Given the description of an element on the screen output the (x, y) to click on. 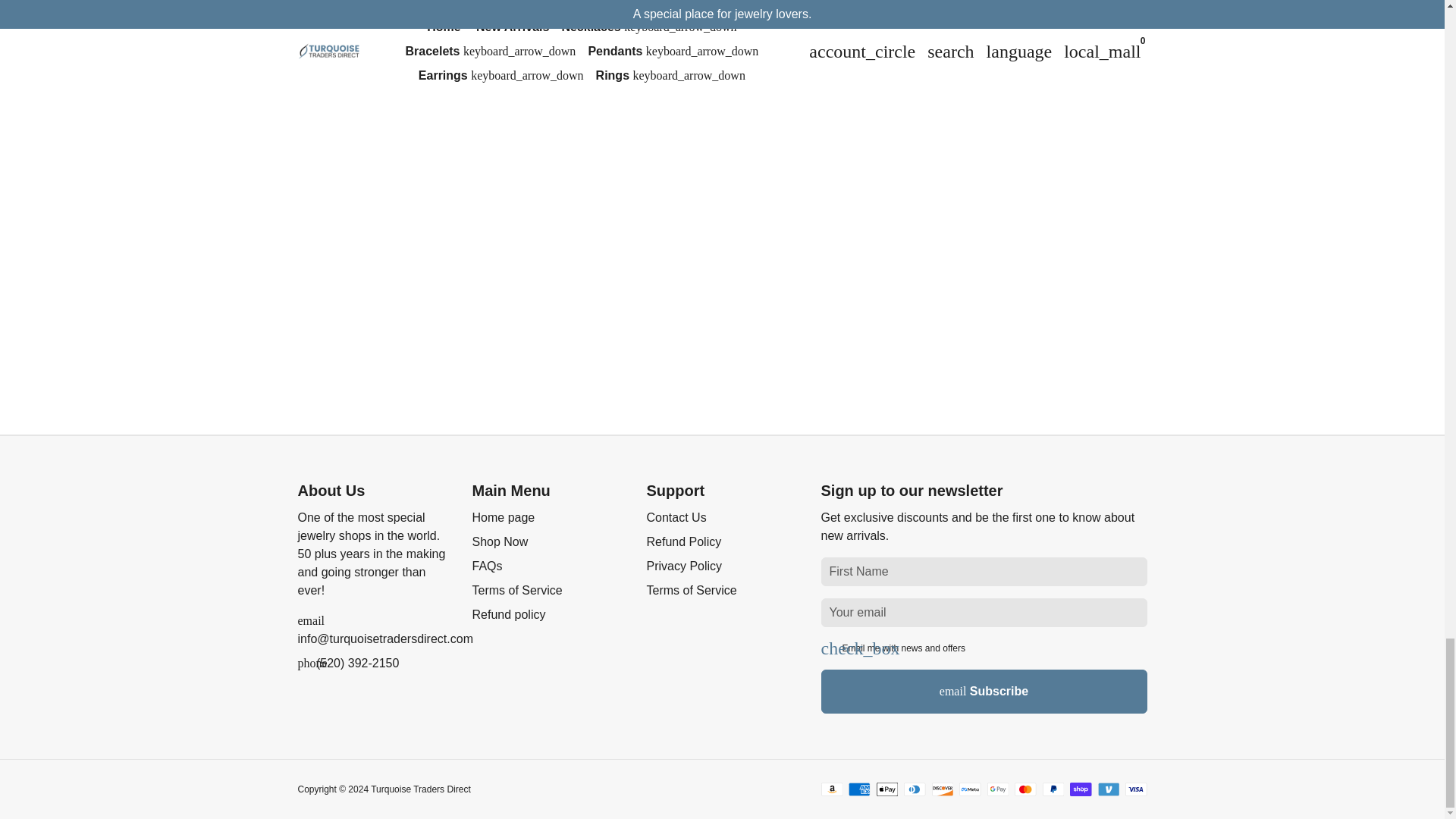
Venmo (1108, 789)
Shop Pay (1081, 789)
Diners Club (915, 789)
Mastercard (1025, 789)
Amazon (831, 789)
Discover (941, 789)
Google Pay (998, 789)
Visa (1136, 789)
Meta Pay (970, 789)
American Express (859, 789)
